Given the description of an element on the screen output the (x, y) to click on. 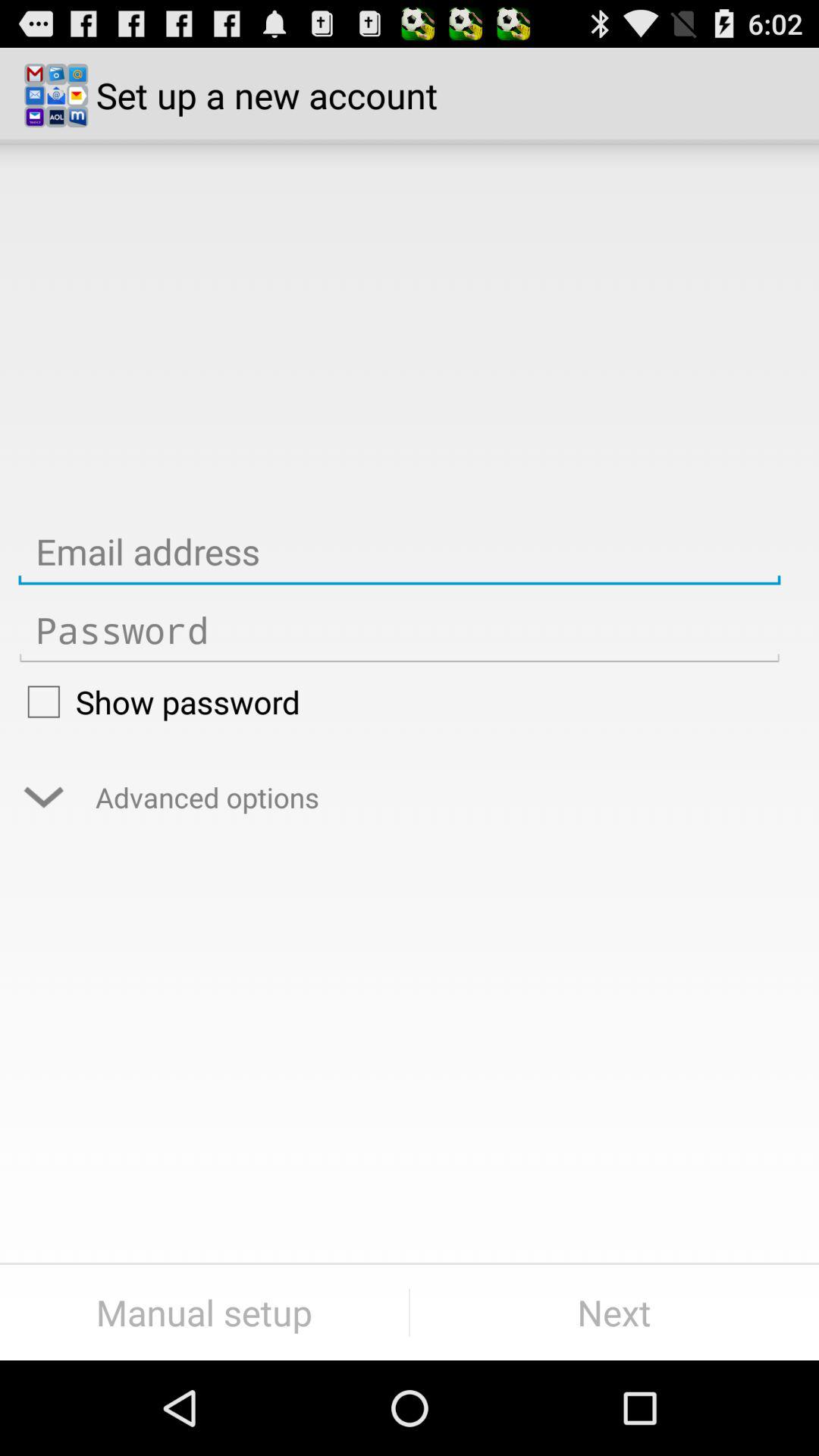
enter login password (399, 630)
